Given the description of an element on the screen output the (x, y) to click on. 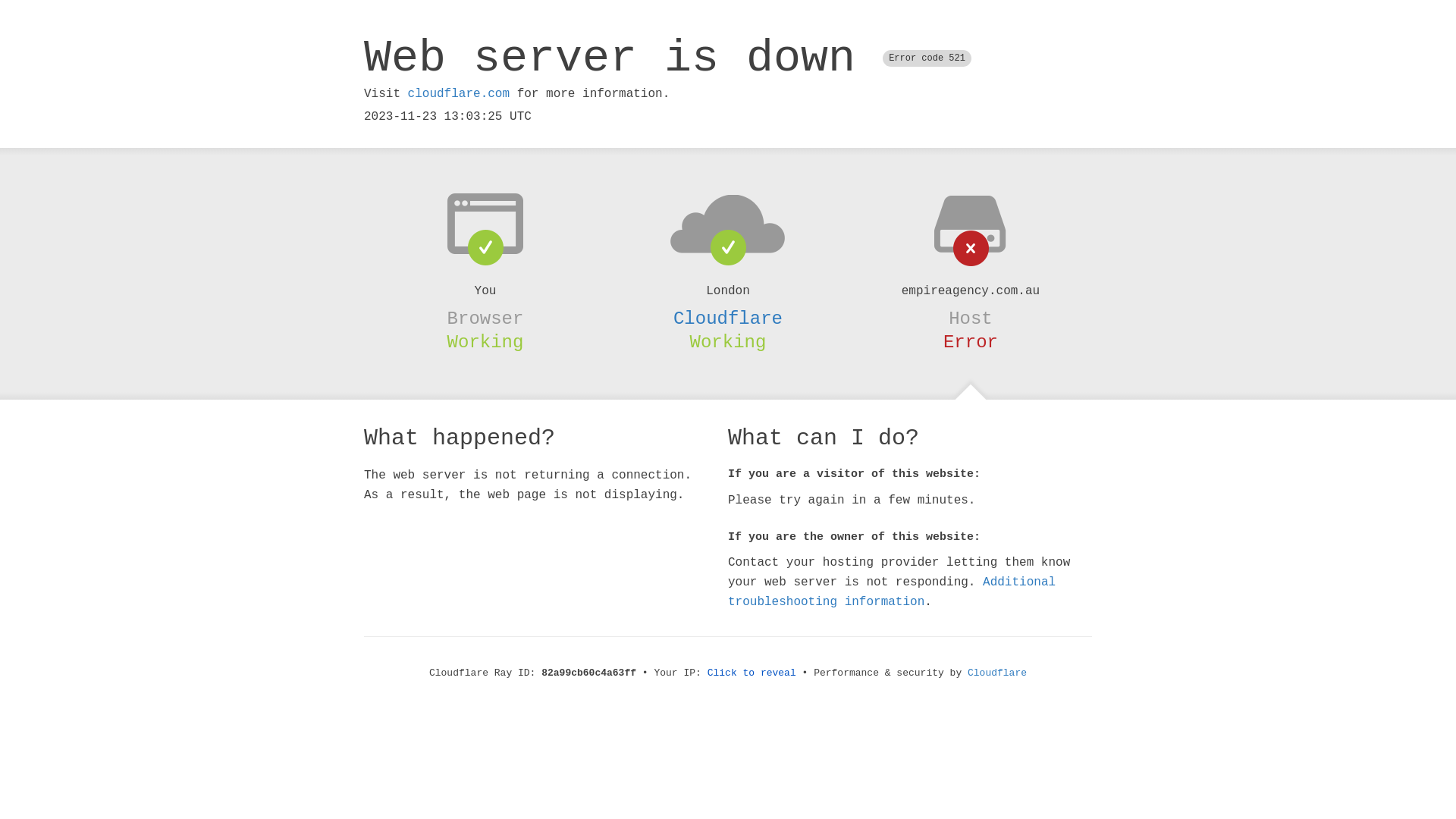
cloudflare.com Element type: text (458, 93)
Cloudflare Element type: text (727, 318)
Additional troubleshooting information Element type: text (891, 591)
Click to reveal Element type: text (751, 672)
Cloudflare Element type: text (996, 672)
